Given the description of an element on the screen output the (x, y) to click on. 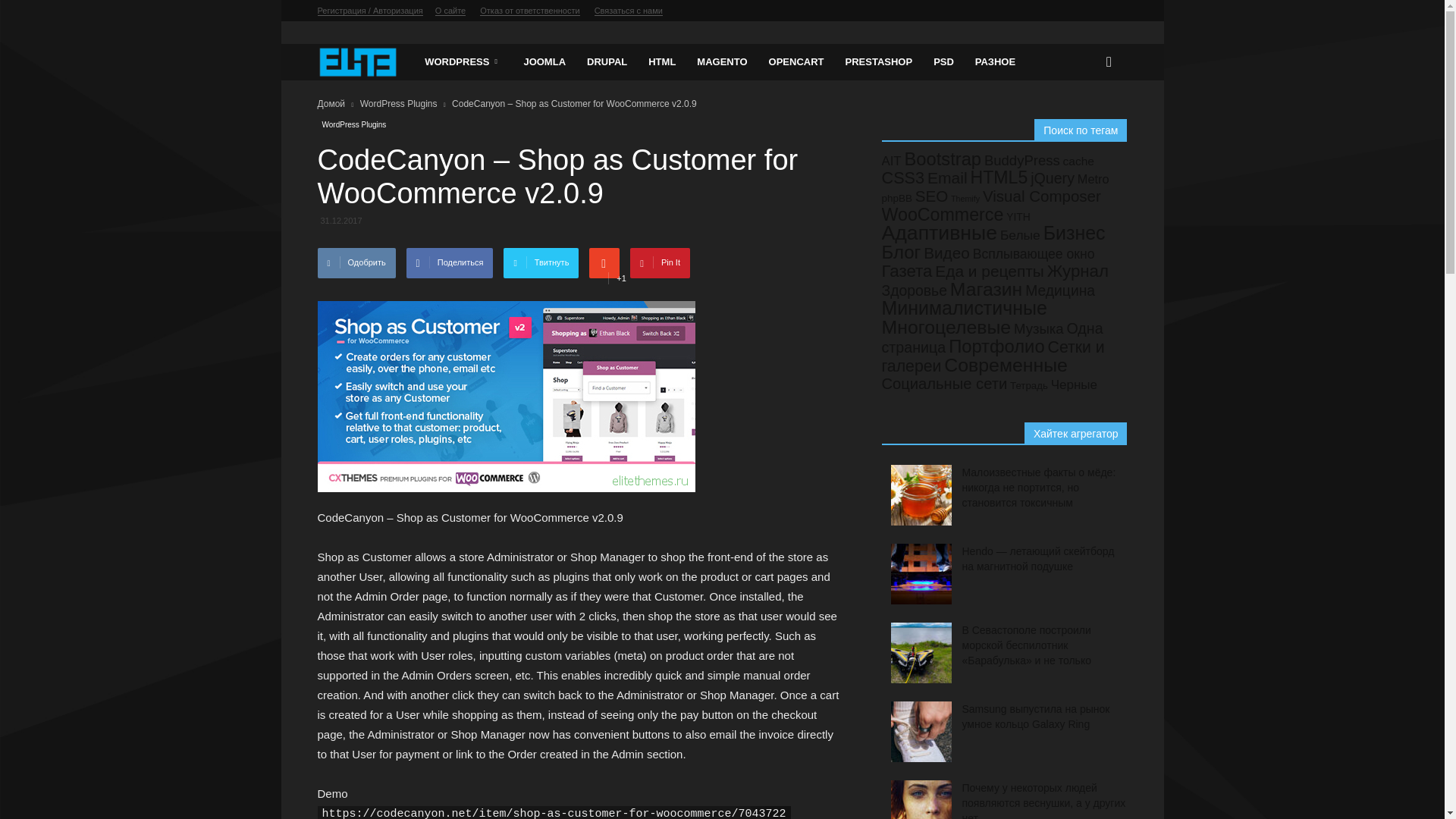
PRESTASHOP (878, 62)
OPENCART (796, 62)
JOOMLA (544, 62)
PSD (943, 62)
MAGENTO (721, 62)
WORDPRESS (462, 62)
DRUPAL (606, 62)
HTML (661, 62)
